Given the description of an element on the screen output the (x, y) to click on. 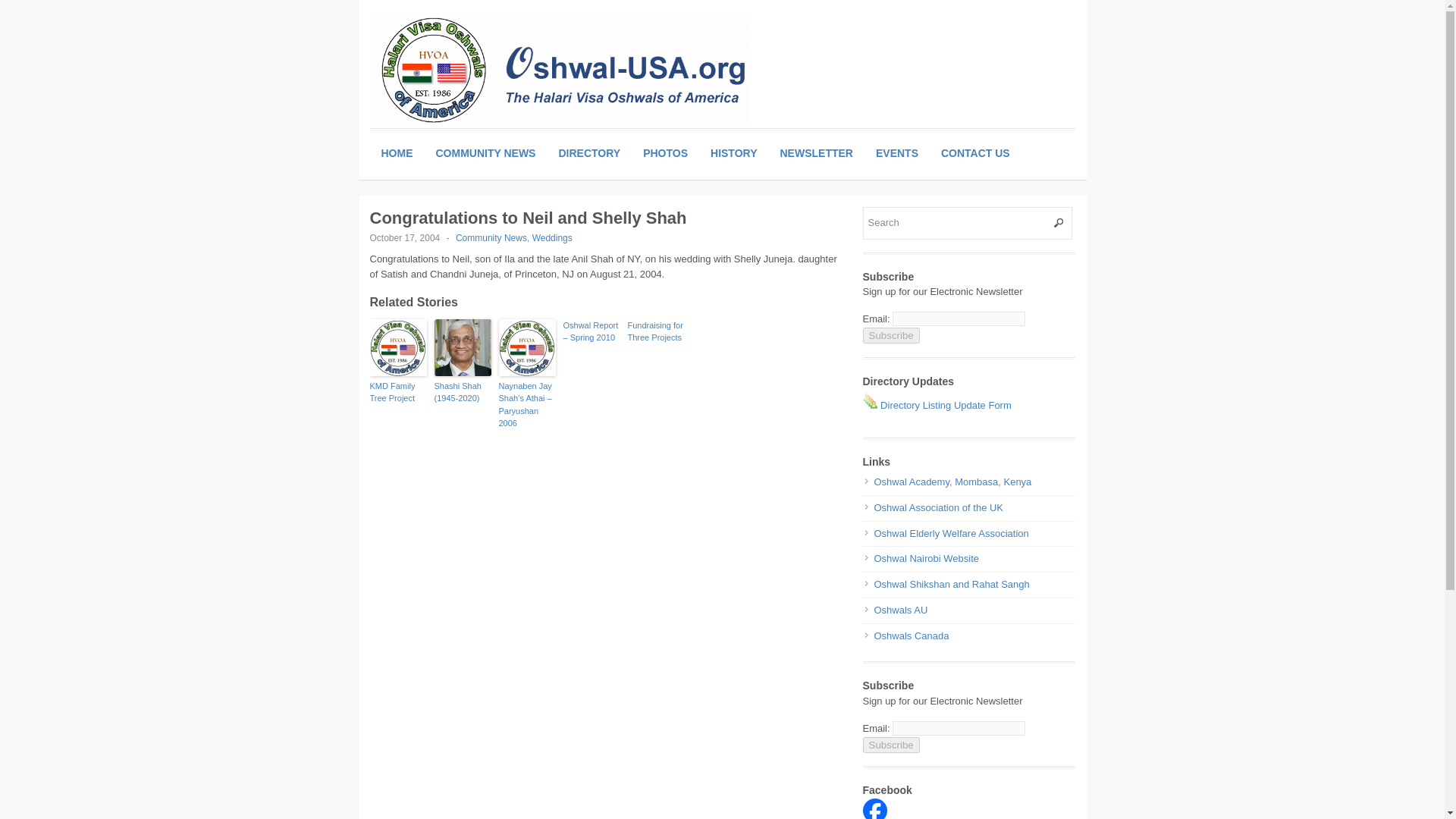
PHOTOS (664, 153)
COMMUNITY NEWS (486, 153)
Fundraising for Three Projects (655, 331)
Search (967, 223)
Oshwals Australia (900, 609)
Oshwal Academy, Mombasa, Kenya (951, 481)
Subscribe (891, 744)
Oshwal Association of the UK (938, 507)
CONTACT US (976, 153)
Oshwals AU (900, 609)
